Given the description of an element on the screen output the (x, y) to click on. 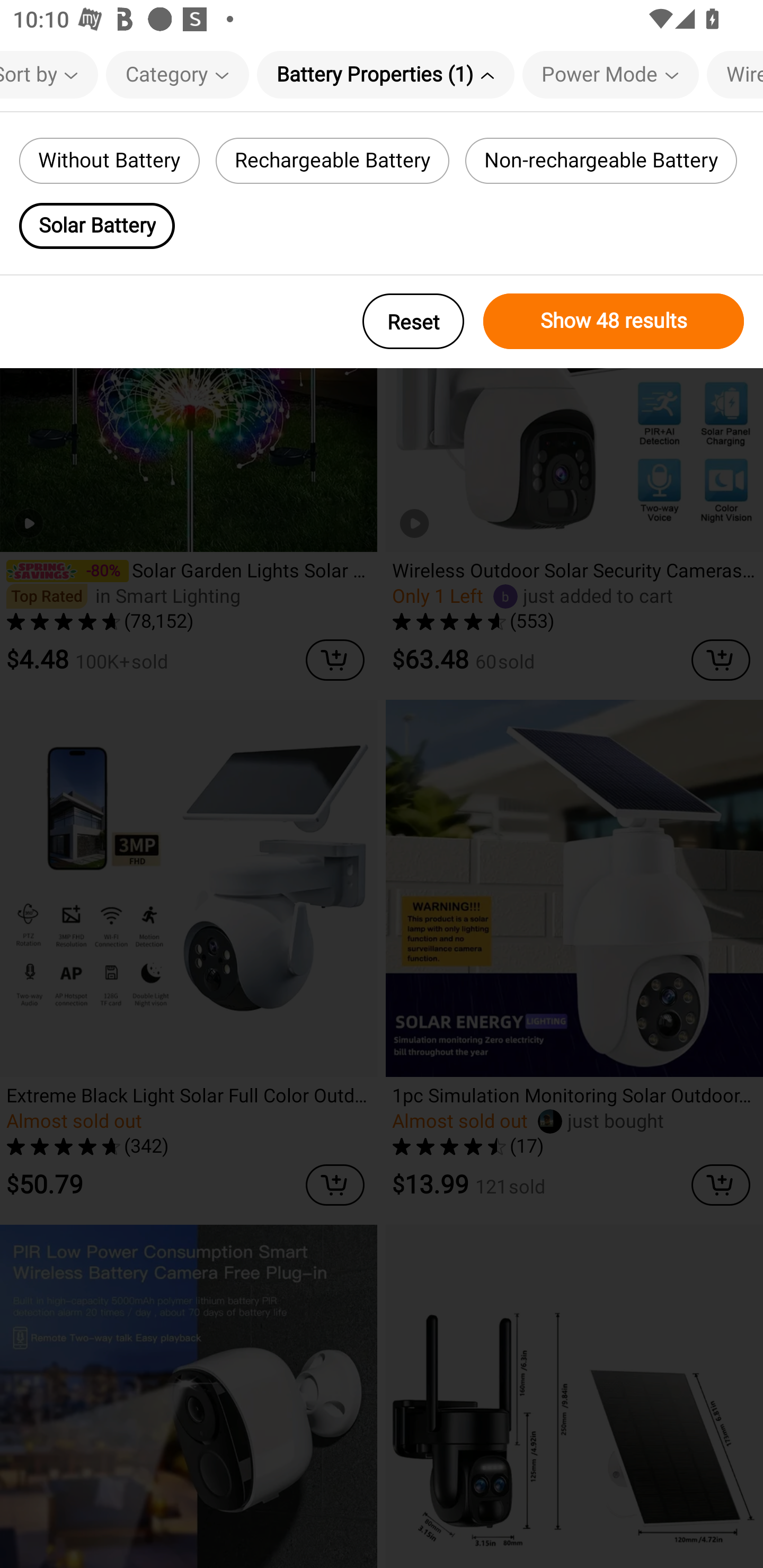
Sort by (48, 74)
Category (177, 74)
Battery Properties (1) (385, 74)
Power Mode (610, 74)
Free shipping (97, 138)
Without Battery (109, 160)
Rechargeable Battery (332, 160)
Non-rechargeable Battery (601, 160)
Solar Battery (96, 225)
Reset (412, 321)
Show 48 results (612, 321)
